Given the description of an element on the screen output the (x, y) to click on. 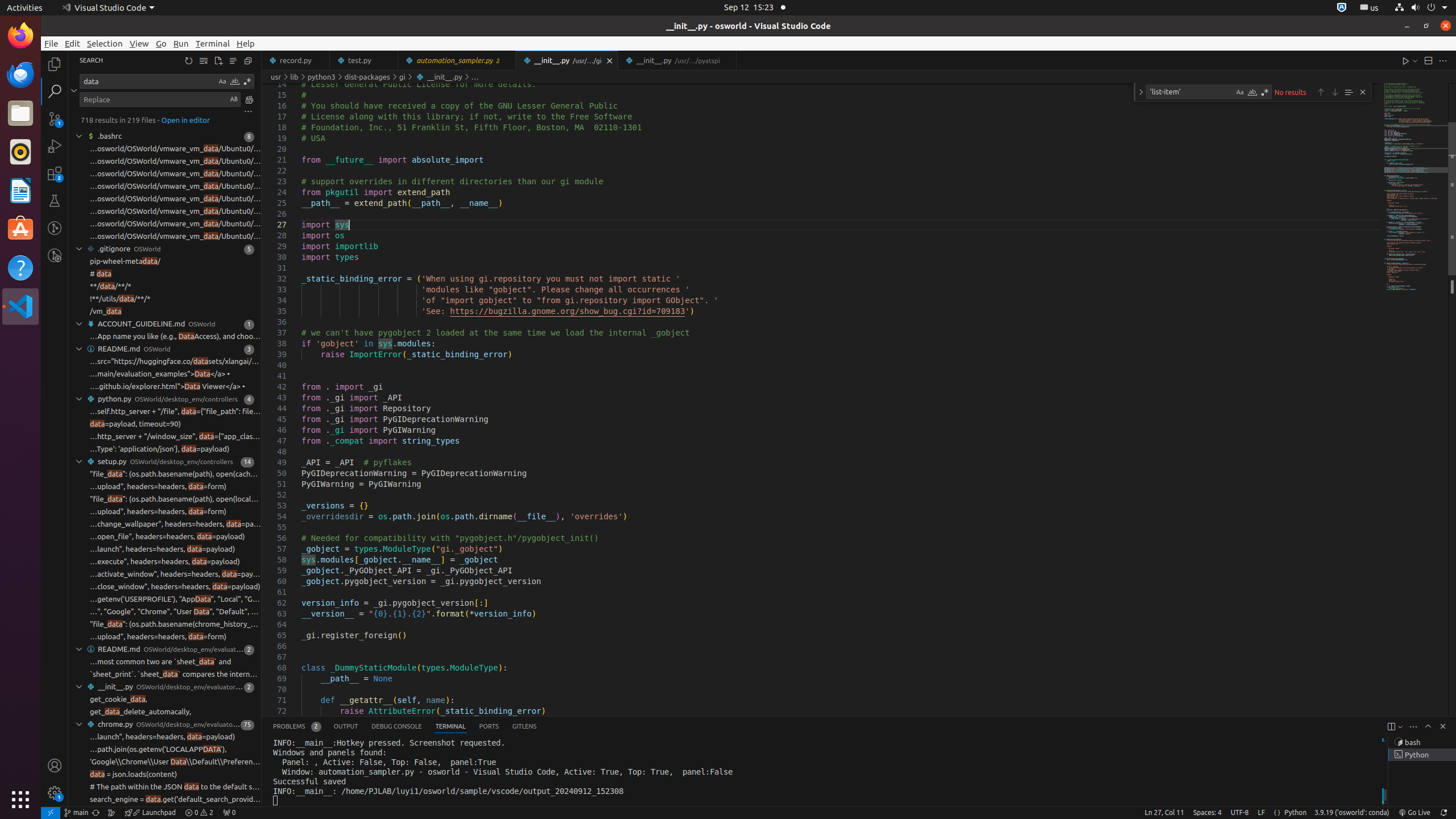
**/data/**/* Element type: link (110, 285)
"file_data": (os.path.basename(path), open(cache_path, "rb")) Element type: link (175, 473)
' data = json.loads(content)' at column 9 found data Element type: tree-item (164, 773)
Next Match (Enter) Element type: push-button (1334, 91)
Maximize Panel Size Element type: check-box (1427, 726)
